Given the description of an element on the screen output the (x, y) to click on. 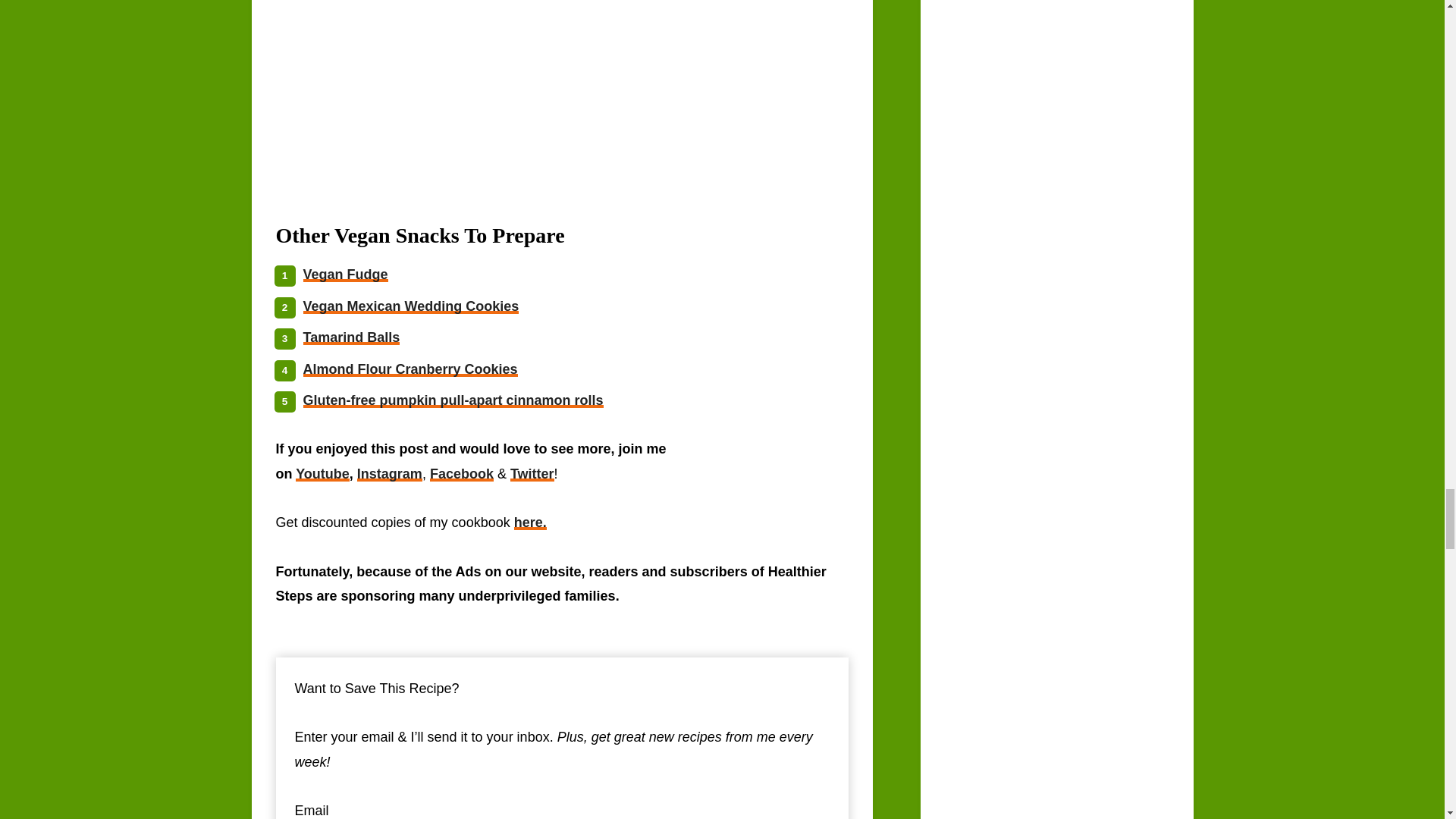
Tamarind Balls (351, 337)
Vegan Fudge (345, 273)
Almond Flour Cranberry Cookies (410, 368)
Vegan Mexican Wedding Cookies (410, 305)
